Given the description of an element on the screen output the (x, y) to click on. 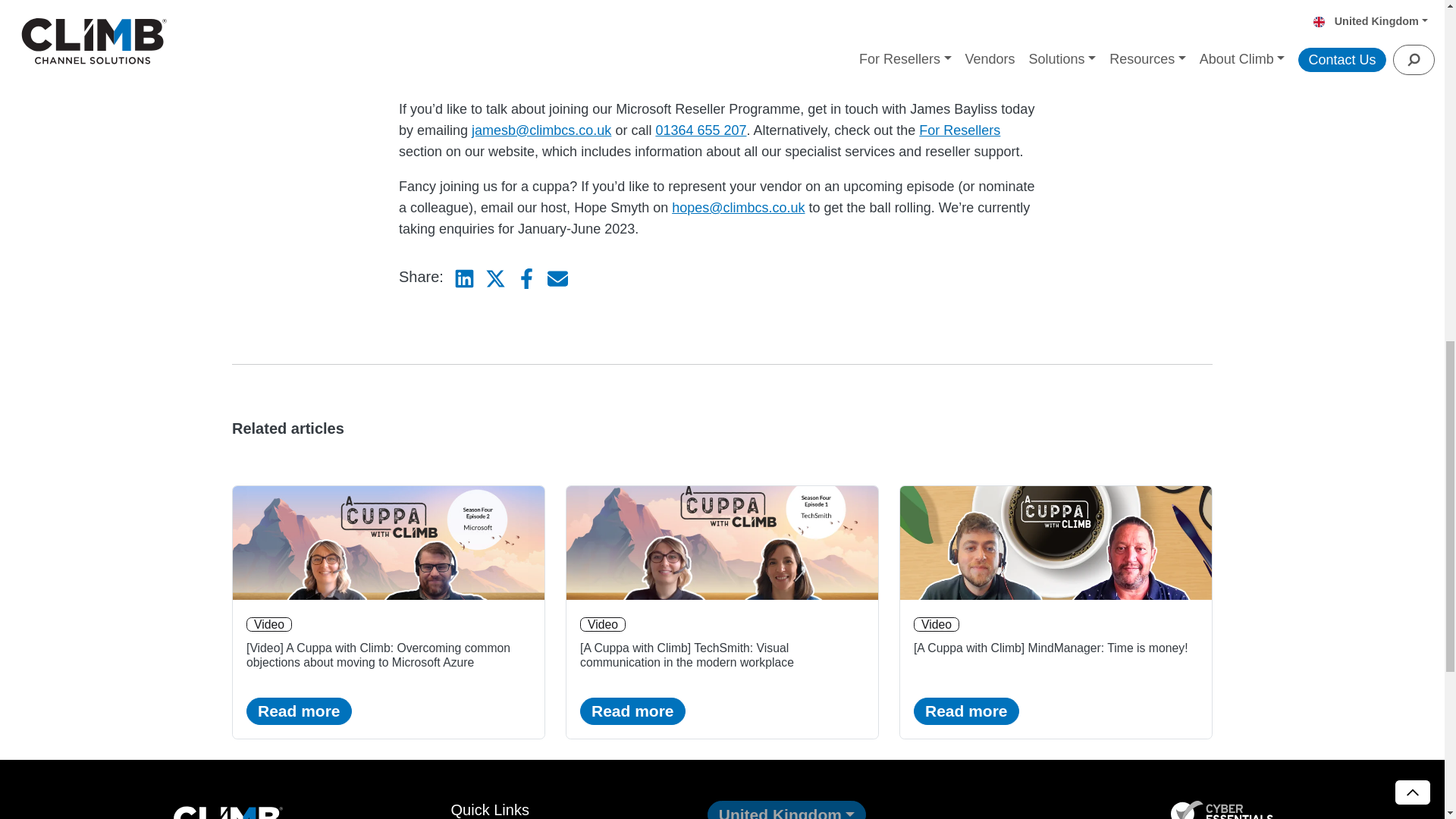
A Cuppa with Climb: Join our Microsoft Reseller programme (721, 42)
